Given the description of an element on the screen output the (x, y) to click on. 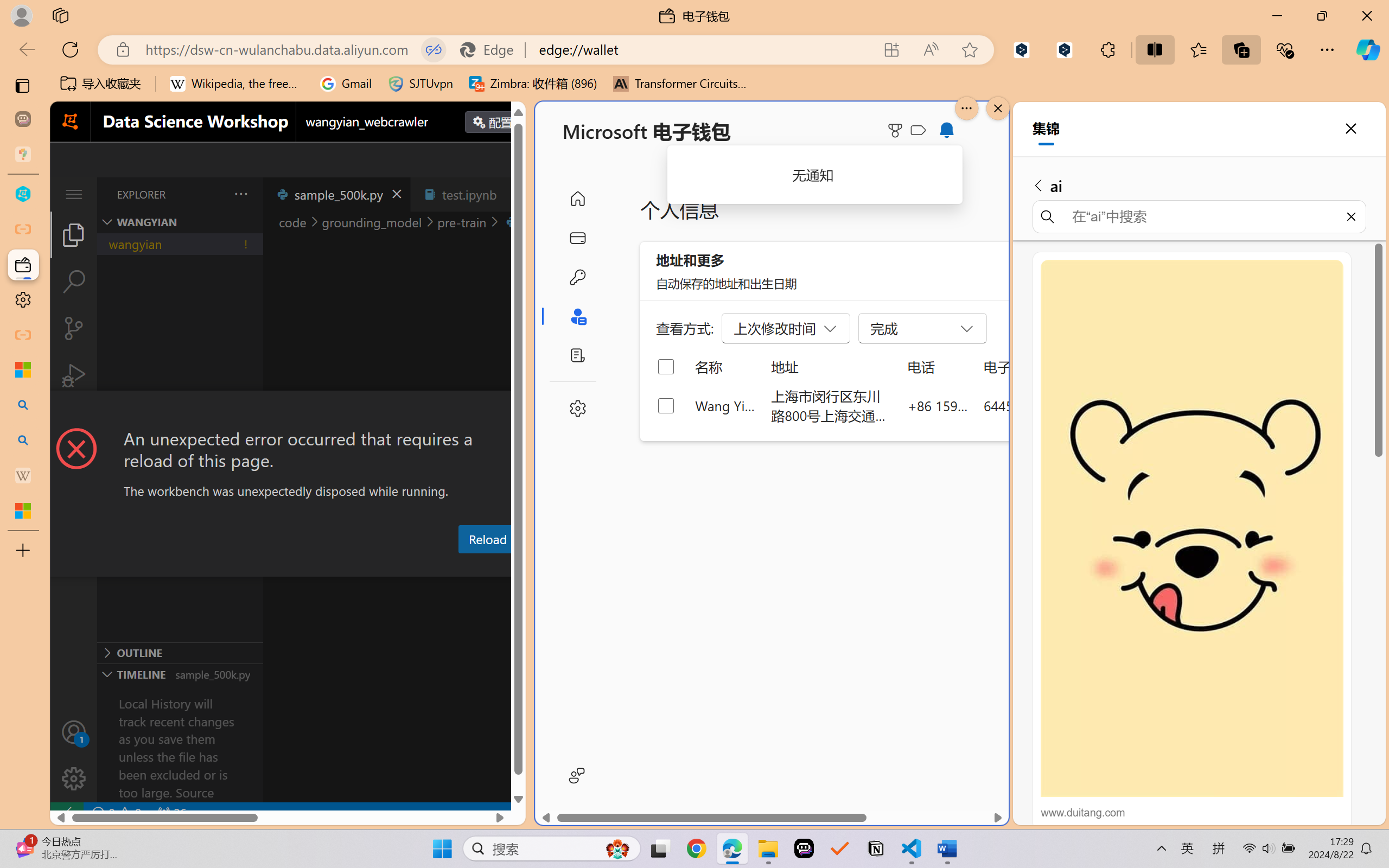
Microsoft Cashback (920, 130)
644553698@qq.com (1043, 405)
No Problems (115, 812)
test.ipynb (468, 194)
